Given the description of an element on the screen output the (x, y) to click on. 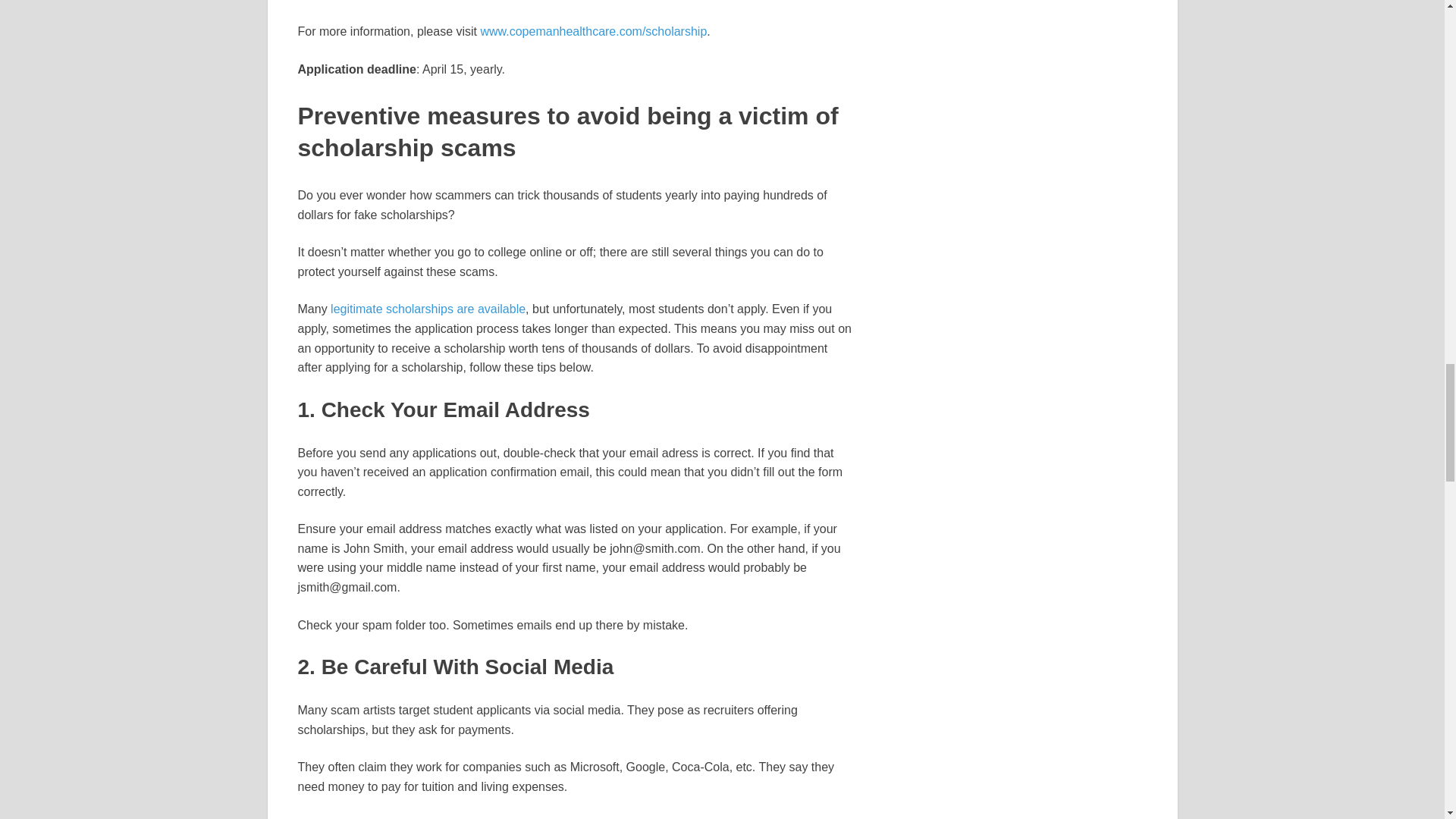
legitimate scholarships are available (427, 308)
